Given the description of an element on the screen output the (x, y) to click on. 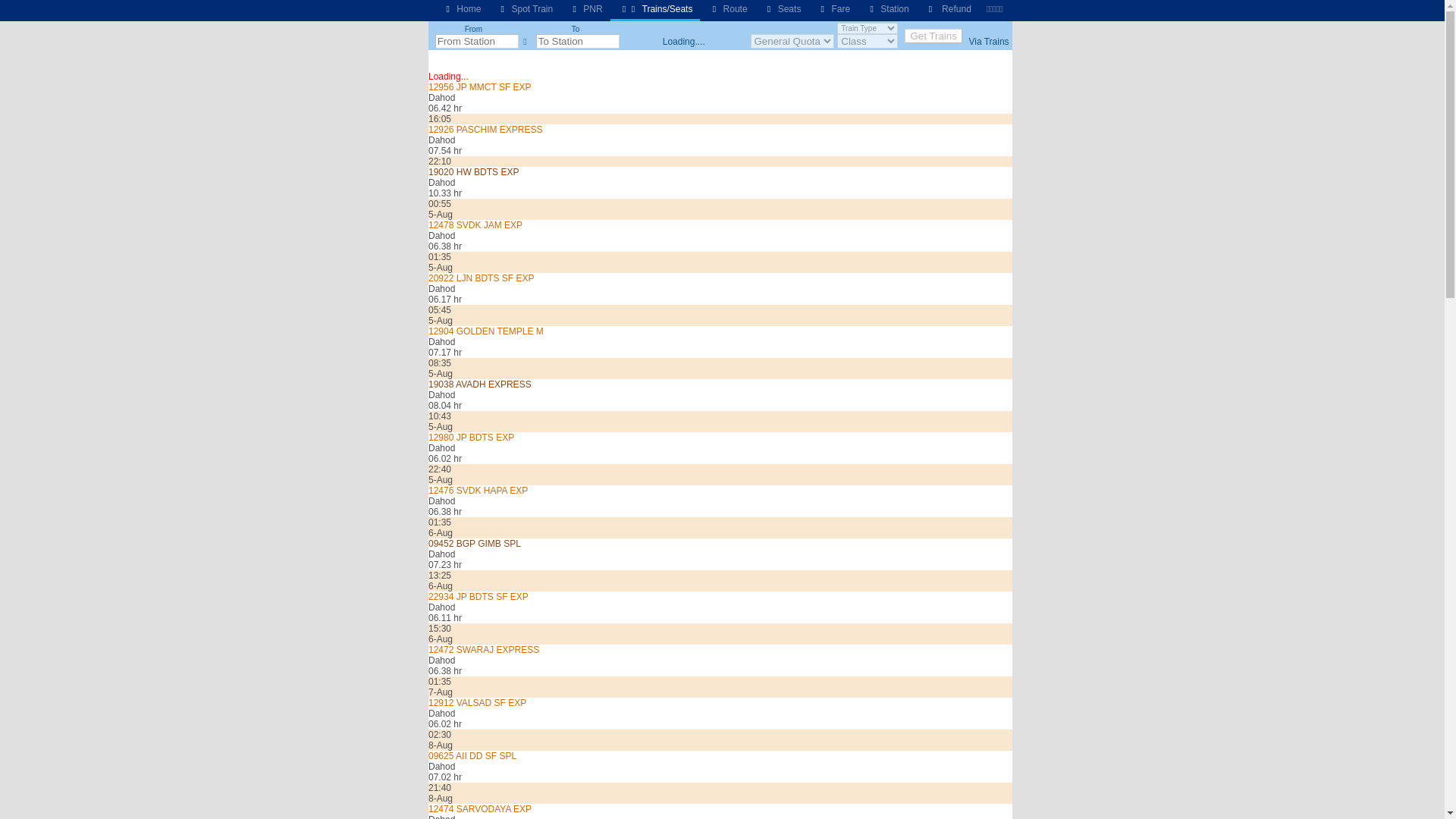
 Route (727, 9)
IRCTC Online Train Route (727, 9)
Enter DESTINATION station code or name (577, 41)
Via Trains (988, 41)
 Refund (947, 9)
IRCTC Online Train Running Status (523, 9)
IRCTC Online Ticket Cancellation Charges (947, 9)
 Home (460, 9)
IRCTC Online Seat Availability (782, 9)
IRCTC Enquiry Trains between Stations (655, 9)
 Spot Train (523, 9)
Train Search Using a Via Station (988, 41)
Type SOURCE station code or name (476, 41)
Select seat reservation quota (792, 41)
 PNR (585, 9)
